Given the description of an element on the screen output the (x, y) to click on. 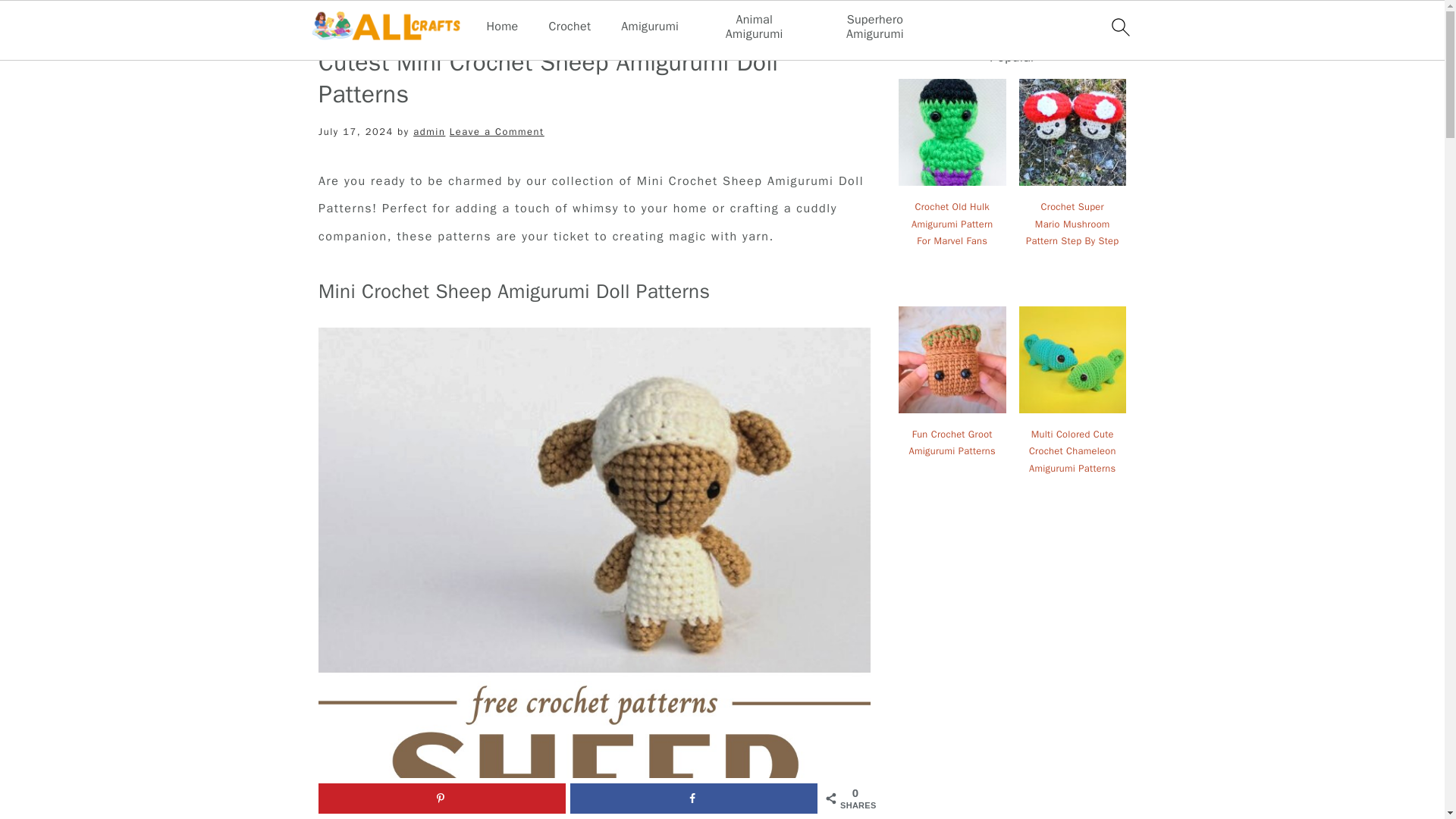
Save to Pinterest (442, 798)
admin (429, 132)
Crochet (569, 26)
Home (502, 26)
search icon (1119, 26)
Leave a Comment (496, 132)
Share on Facebook (693, 798)
Animal Amigurumi (754, 27)
Amigurumi (649, 26)
Superhero Amigurumi (874, 27)
